Given the description of an element on the screen output the (x, y) to click on. 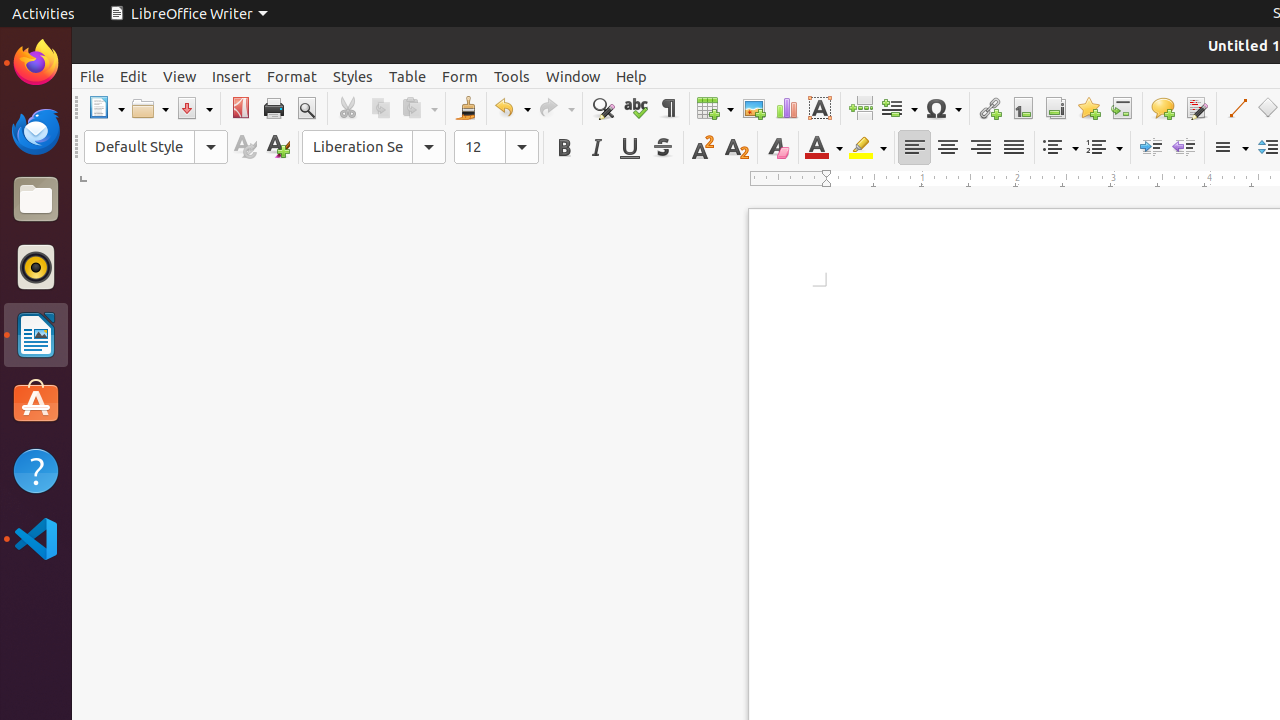
Print Element type: push-button (273, 108)
Italic Element type: toggle-button (596, 147)
Comment Element type: push-button (1162, 108)
Symbol Element type: push-button (943, 108)
